Given the description of an element on the screen output the (x, y) to click on. 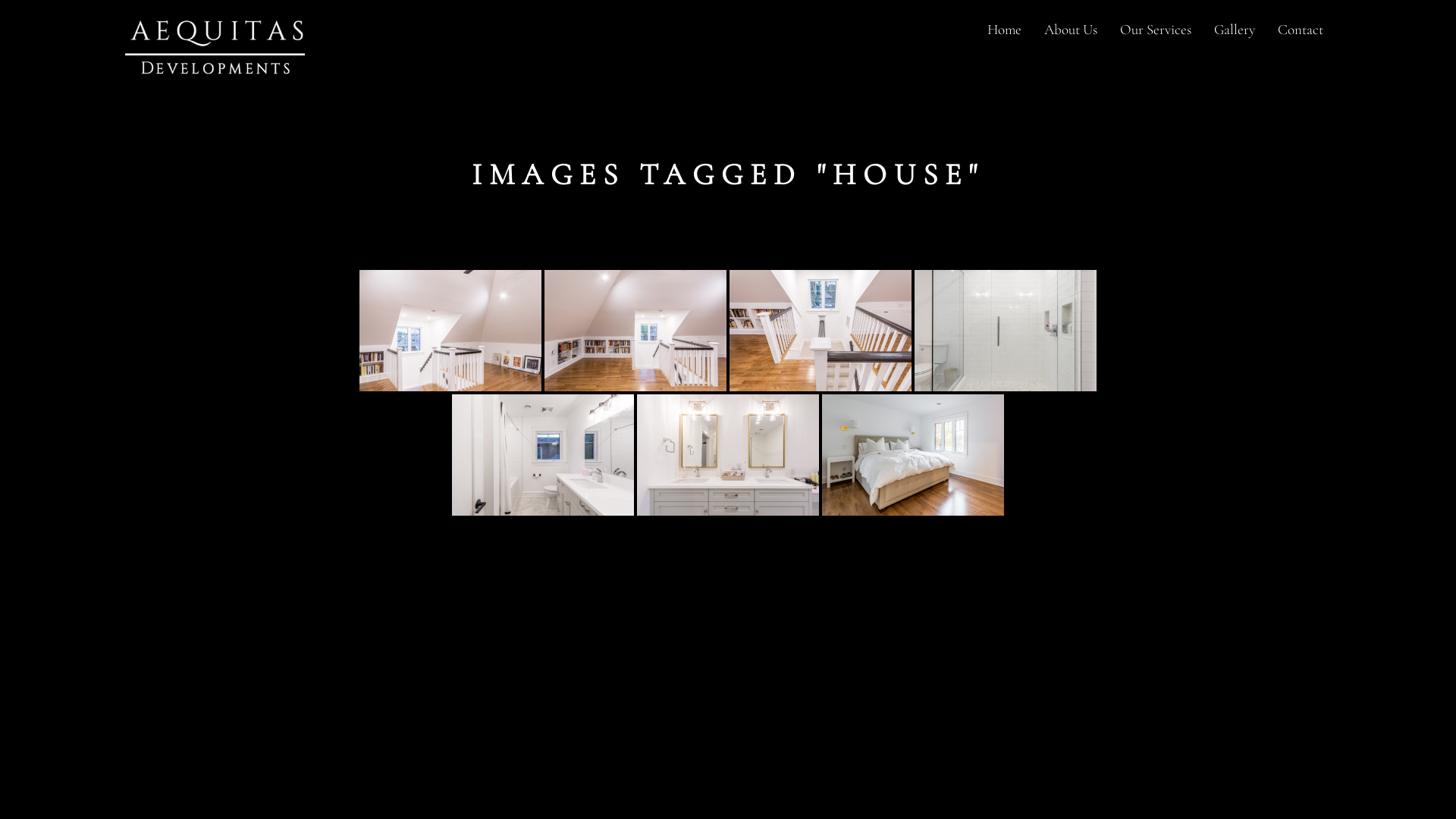
About Us Element type: text (1070, 29)
Glebe Element type: hover (820, 330)
Glebe Element type: hover (542, 454)
Glebe Element type: hover (913, 454)
Glebe Element type: hover (728, 454)
Glebe Element type: hover (635, 330)
Our Services Element type: text (1155, 29)
Home Element type: text (1003, 29)
Glebe Element type: hover (1005, 330)
Glebe Element type: hover (450, 330)
Gallery Element type: text (1234, 29)
Contact Element type: text (1300, 29)
